Given the description of an element on the screen output the (x, y) to click on. 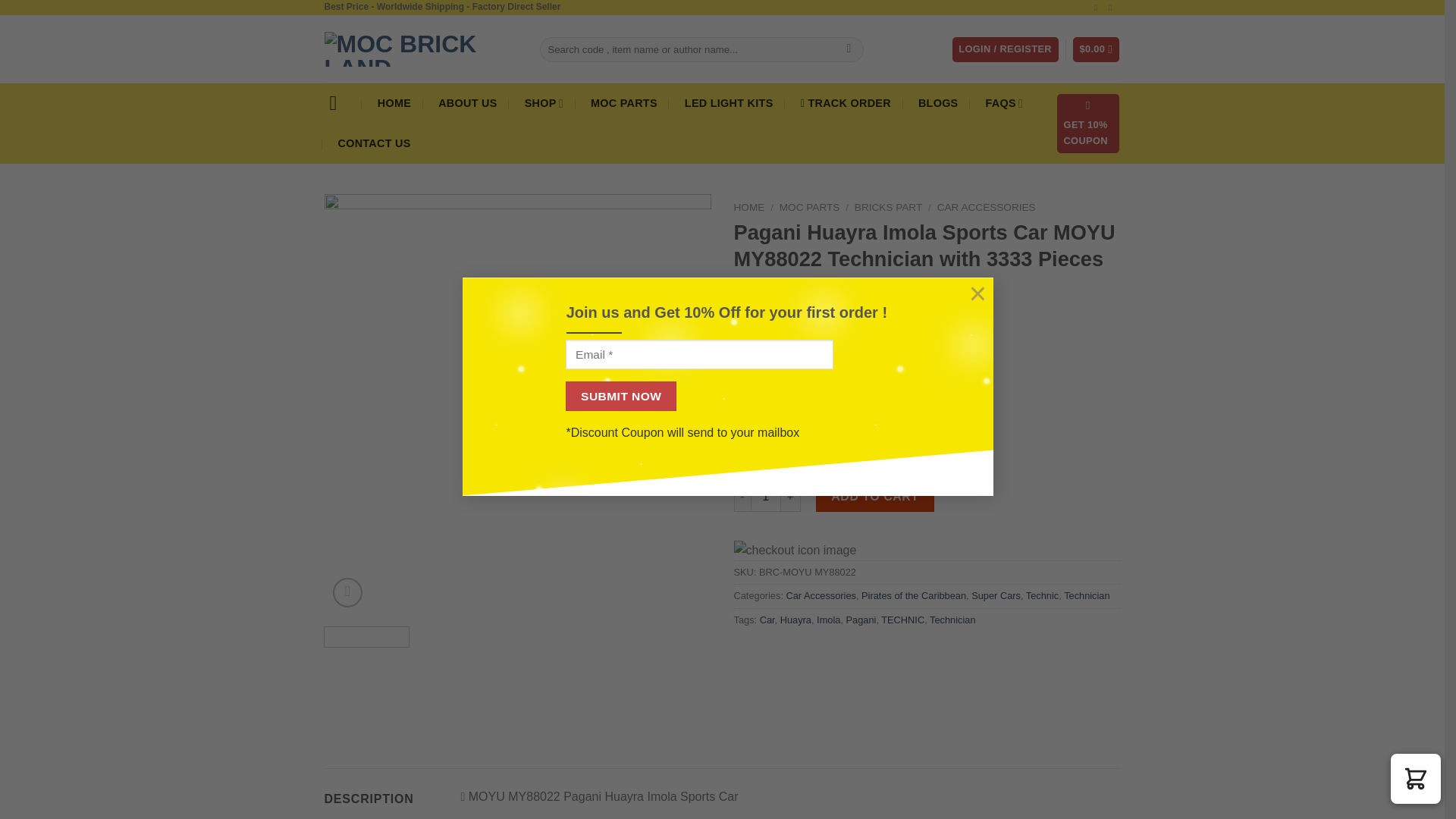
Search (848, 49)
SHOP (544, 103)
MOC PARTS (623, 103)
CONTACT US (372, 143)
ABOUT US (467, 103)
HOME (394, 103)
MOC Brick Land - The Best non LEGO MOC Parts and Sets Store (420, 49)
Zoom (347, 592)
LED LIGHT KITS (728, 103)
Qty (765, 496)
BLOGS (937, 103)
SUBMIT NOW (621, 396)
Sign up for Newsletter (1088, 123)
SUBMIT NOW (621, 396)
